Given the description of an element on the screen output the (x, y) to click on. 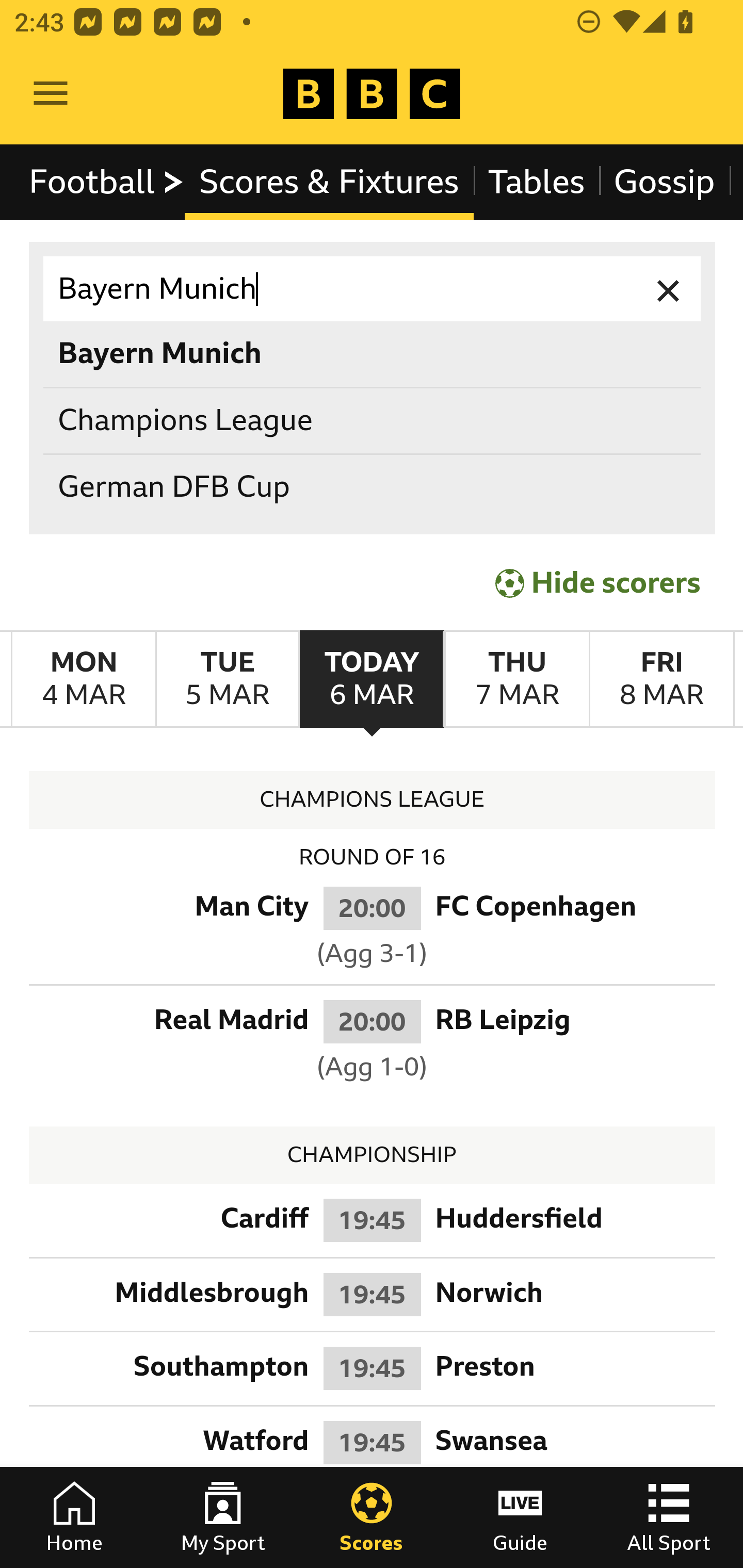
Open Menu (50, 93)
Football  (106, 181)
Scores & Fixtures (329, 181)
Tables (536, 181)
Gossip (664, 181)
Bayern Munich (372, 289)
Clear input (669, 289)
Champions League (372, 419)
German DFB Cup (372, 488)
Hide scorers (598, 582)
MondayMarch 4th Monday March 4th (83, 678)
TuesdayMarch 5th Tuesday March 5th (227, 678)
ThursdayMarch 7th Thursday March 7th (516, 678)
FridayMarch 8th Friday March 8th (661, 678)
Home (74, 1517)
My Sport (222, 1517)
Guide (519, 1517)
All Sport (668, 1517)
